Given the description of an element on the screen output the (x, y) to click on. 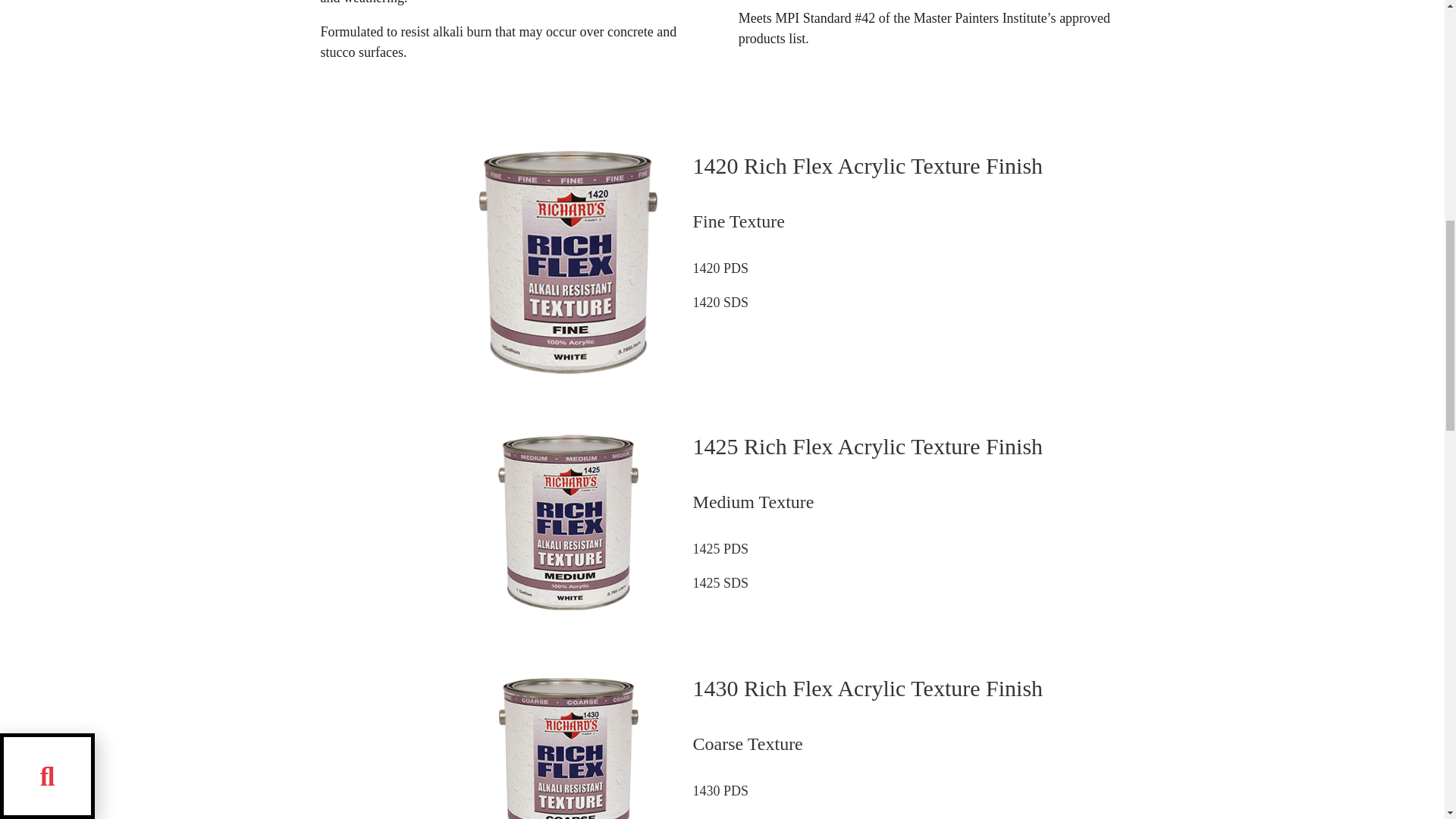
1430 (567, 744)
